Given the description of an element on the screen output the (x, y) to click on. 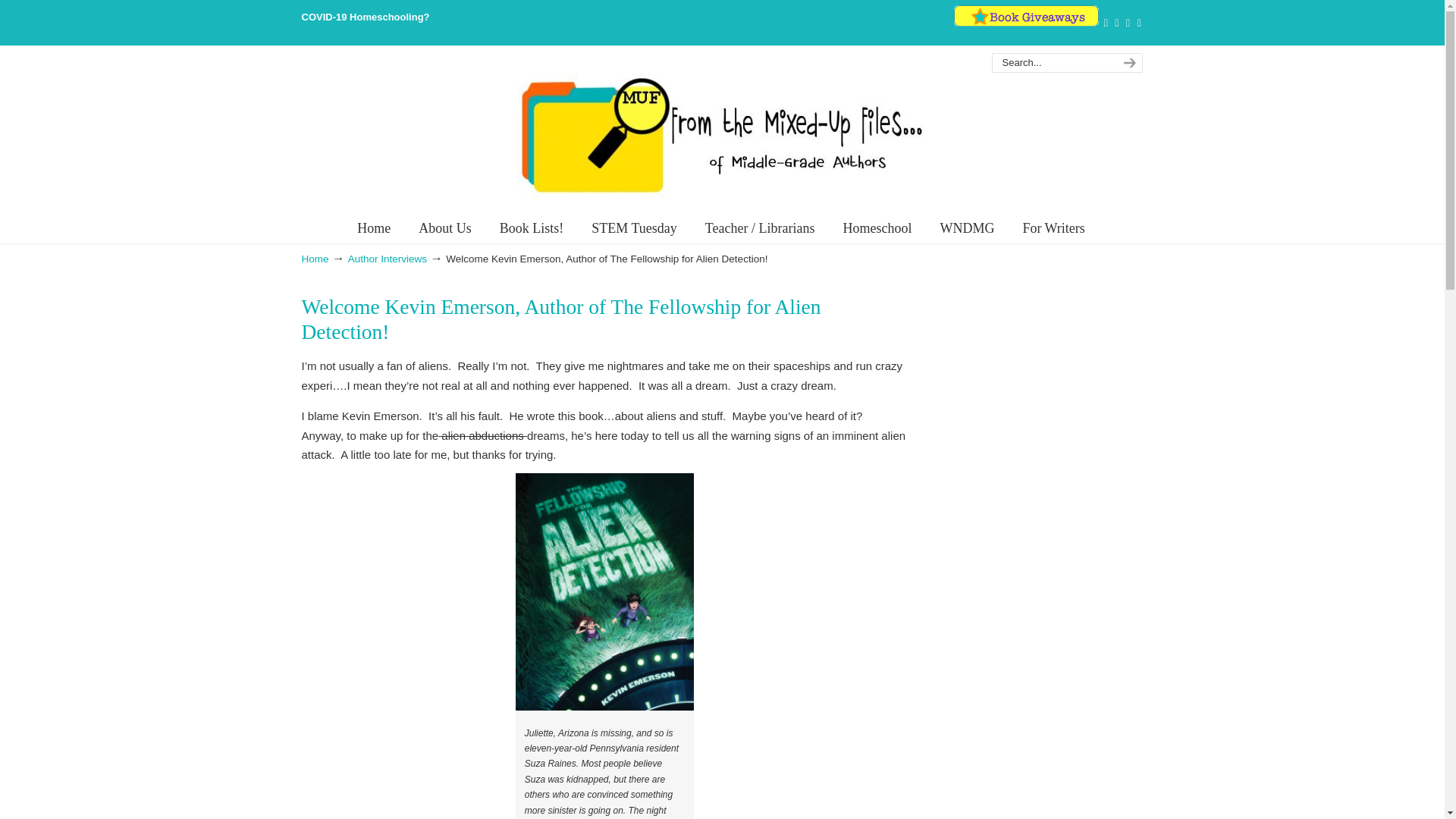
COVID-19 Homeschooling? (365, 16)
search (1126, 62)
search (1126, 62)
STEM Tuesday (634, 228)
From The Mixed Up Files (721, 134)
About Us (444, 228)
Home (374, 228)
Search... (1051, 62)
Book Lists! (531, 228)
From The Mixed Up Files (721, 134)
